Given the description of an element on the screen output the (x, y) to click on. 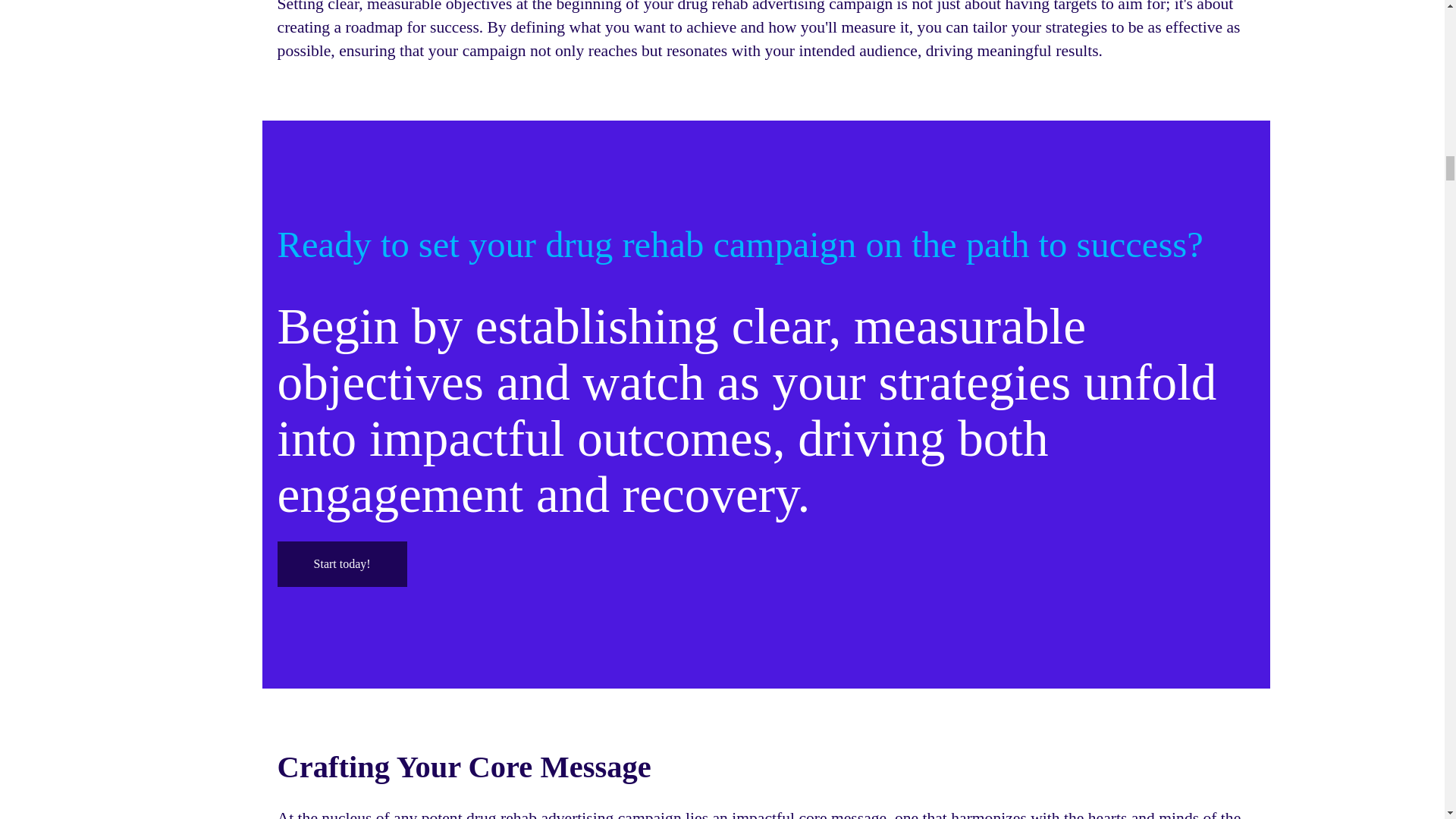
Start today! (342, 564)
